Given the description of an element on the screen output the (x, y) to click on. 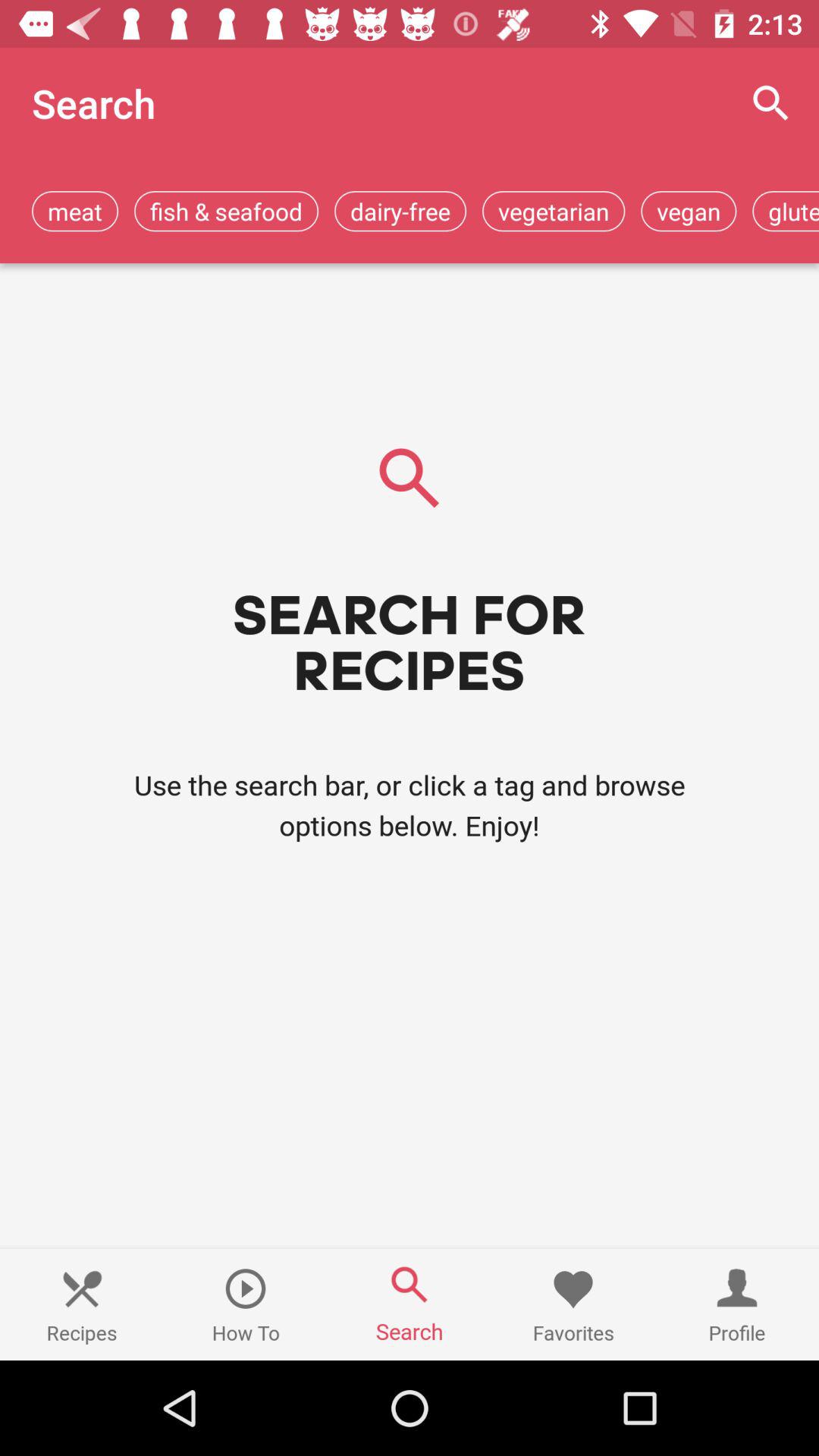
select the item below search item (74, 211)
